Given the description of an element on the screen output the (x, y) to click on. 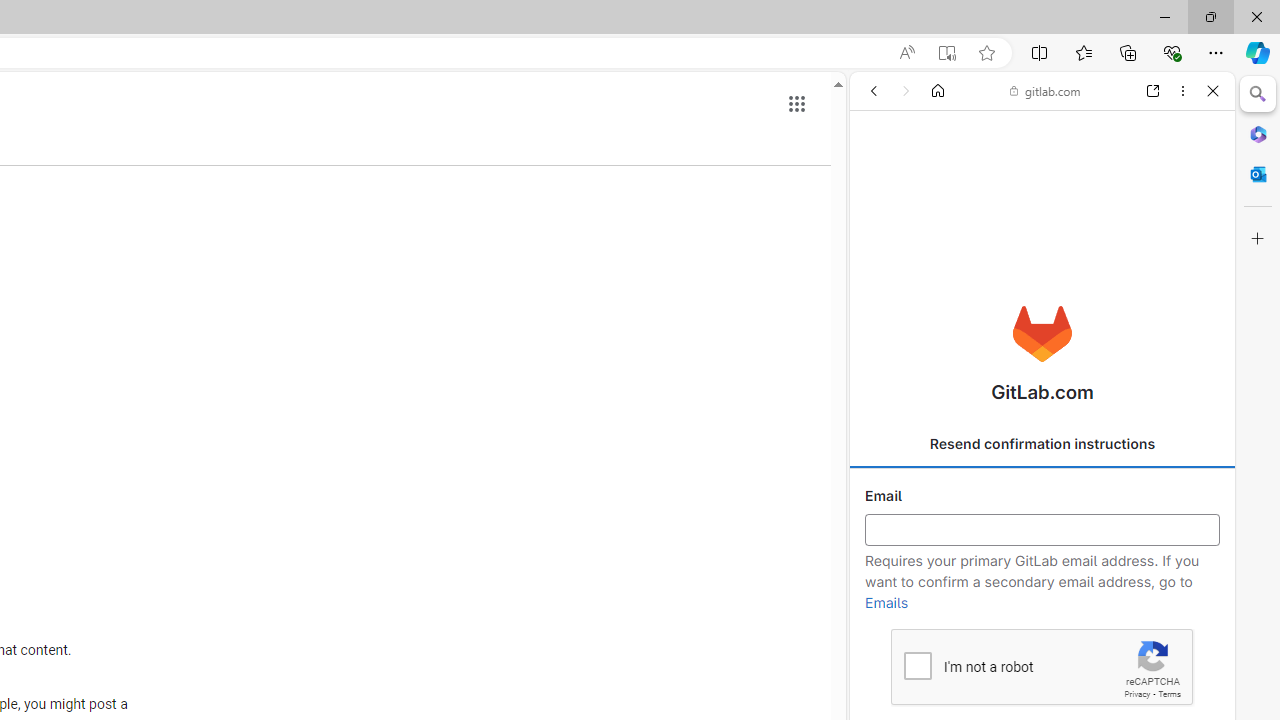
Confirmation Page (1042, 684)
Login (1042, 494)
gitlab.com (1045, 90)
Search Filter, ALL (881, 228)
Dashboard (1042, 641)
Emails (886, 603)
